Given the description of an element on the screen output the (x, y) to click on. 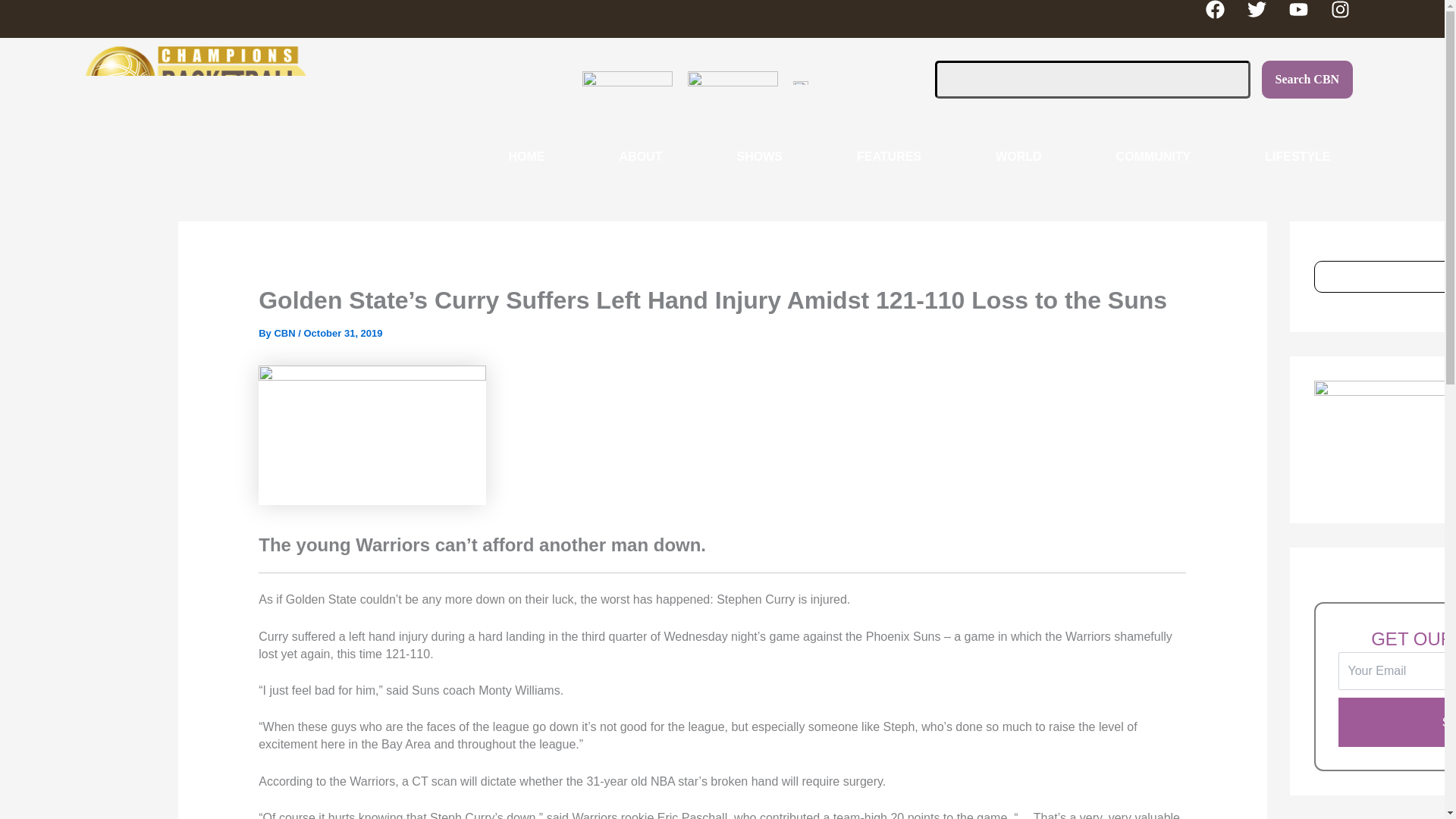
FEATURES (888, 156)
Search (1092, 79)
Instagram (1349, 18)
Youtube (1307, 18)
SUBSCRIBE (1397, 722)
SHOWS (758, 156)
COMMUNITY (1153, 156)
View all posts by CBN (285, 333)
Twitter (1266, 18)
ABOUT (641, 156)
